Given the description of an element on the screen output the (x, y) to click on. 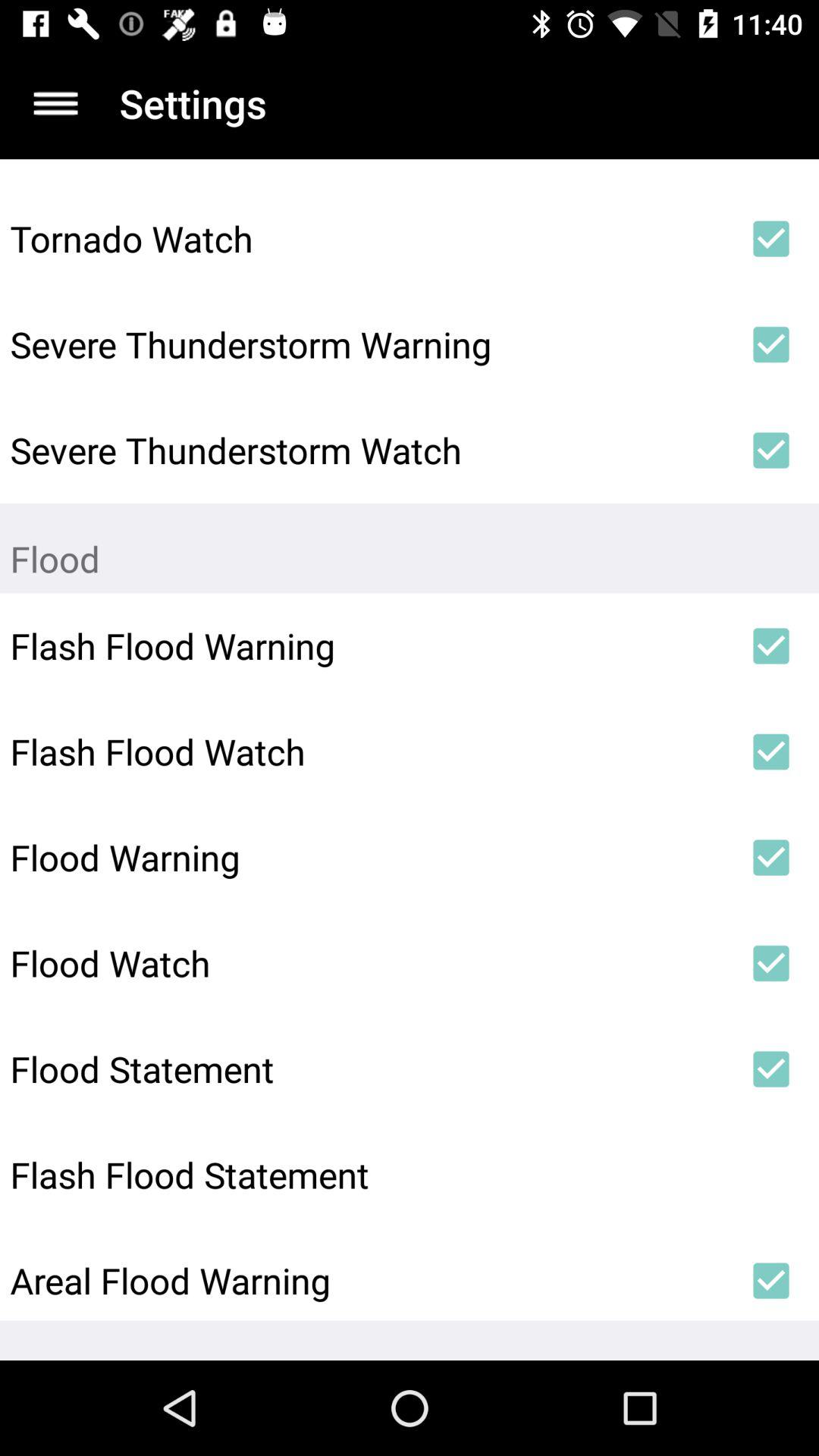
select item below flash flood statement (366, 1280)
